Given the description of an element on the screen output the (x, y) to click on. 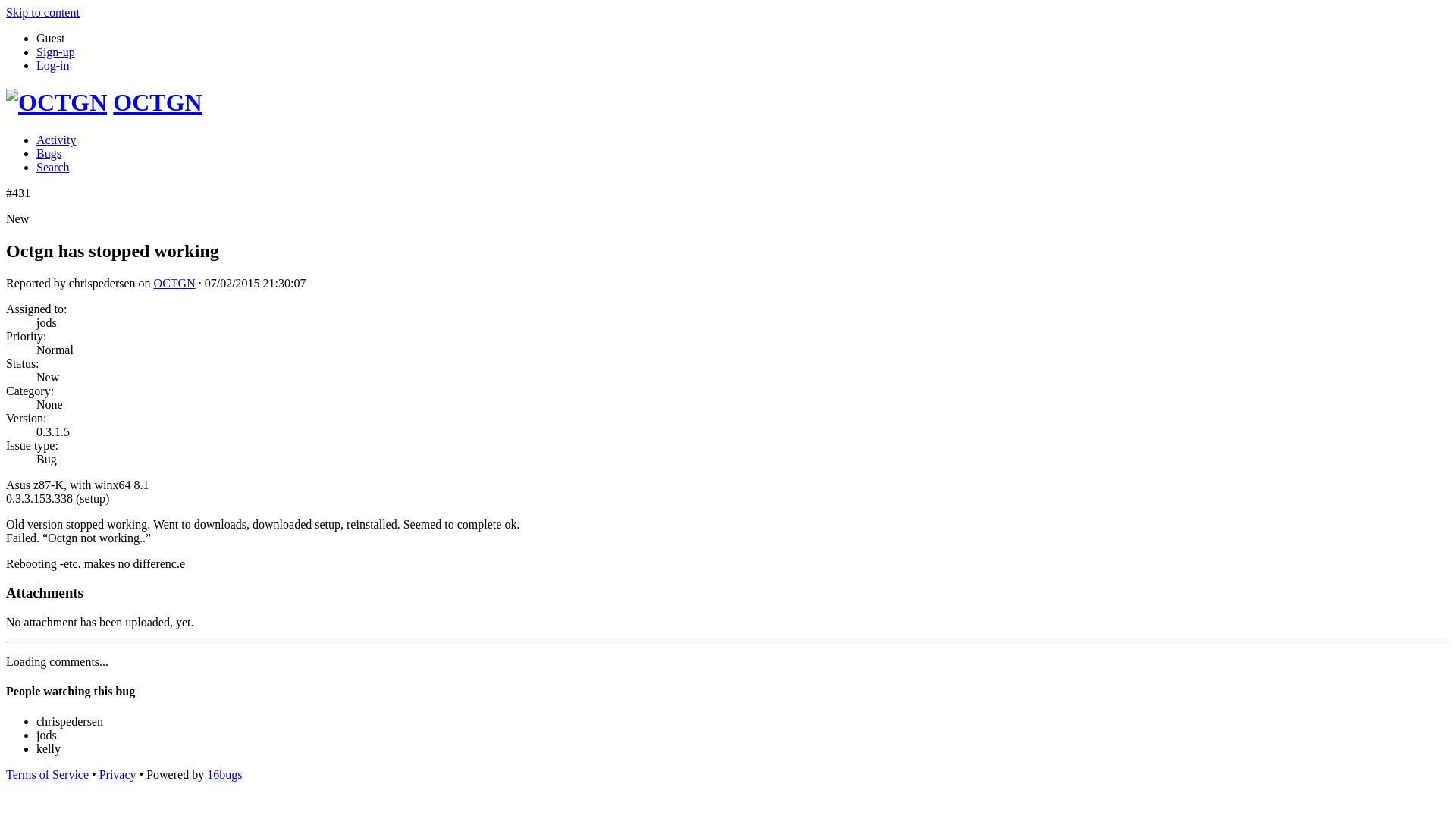
Privacy Element type: text (117, 774)
Sign-up Element type: text (55, 51)
Bugs Element type: text (48, 153)
Activity Element type: text (55, 139)
OCTGN Element type: text (174, 282)
Terms of Service Element type: text (47, 774)
OCTGN Element type: text (156, 102)
Search Element type: text (52, 166)
16bugs Element type: text (224, 774)
Log-in Element type: text (52, 65)
Skip to content Element type: text (42, 12)
